Given the description of an element on the screen output the (x, y) to click on. 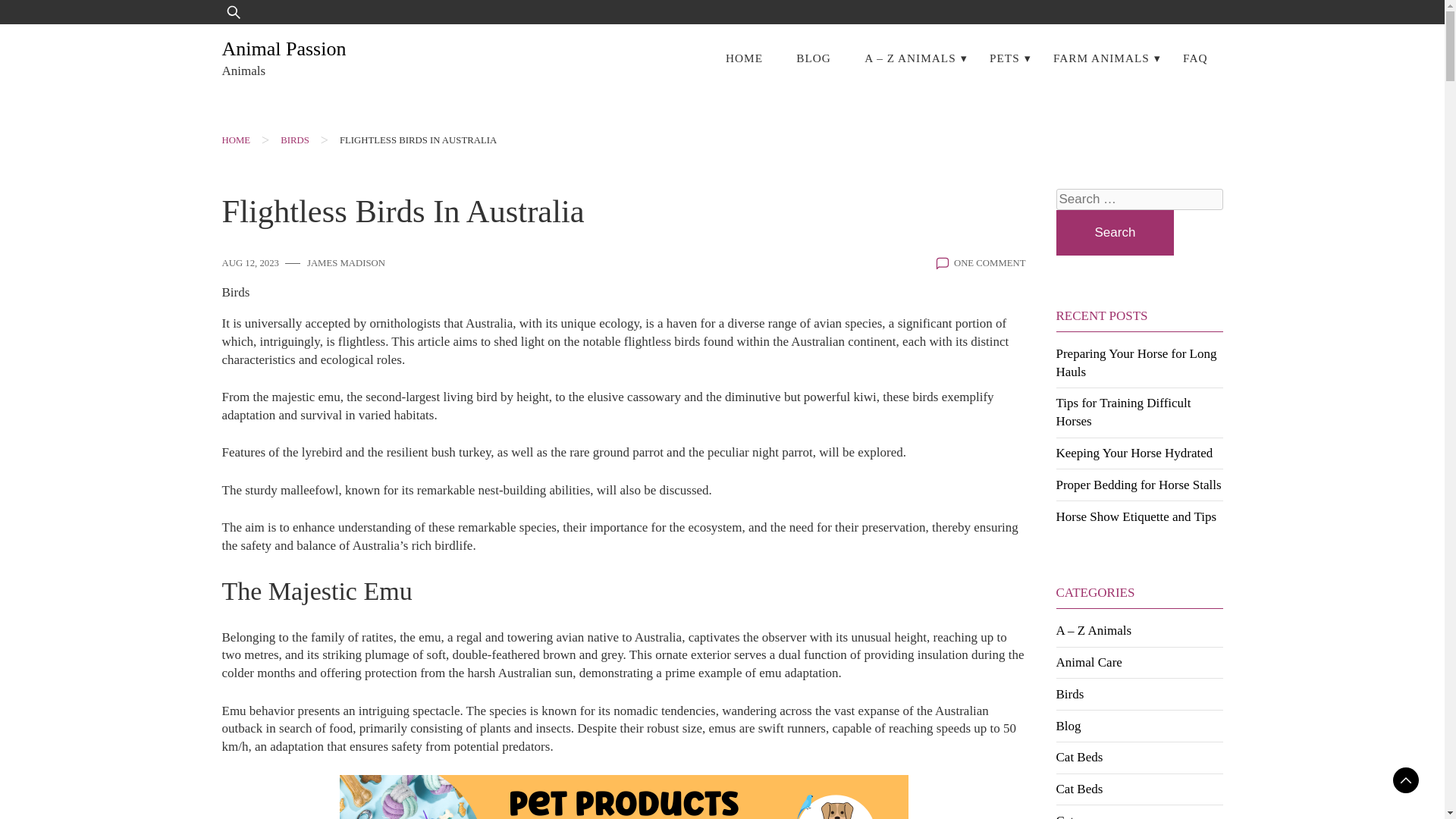
FAQ (1195, 58)
Search (58, 22)
Search (1114, 232)
HOME (235, 140)
FARM ANIMALS (1101, 58)
ONE COMMENT (989, 264)
BIRDS (294, 140)
Animal Passion (283, 48)
Birds (234, 292)
Search (1114, 232)
BLOG (812, 58)
AUG 12, 2023 (249, 264)
Home (235, 140)
JAMES MADISON (346, 264)
PETS (1004, 58)
